Given the description of an element on the screen output the (x, y) to click on. 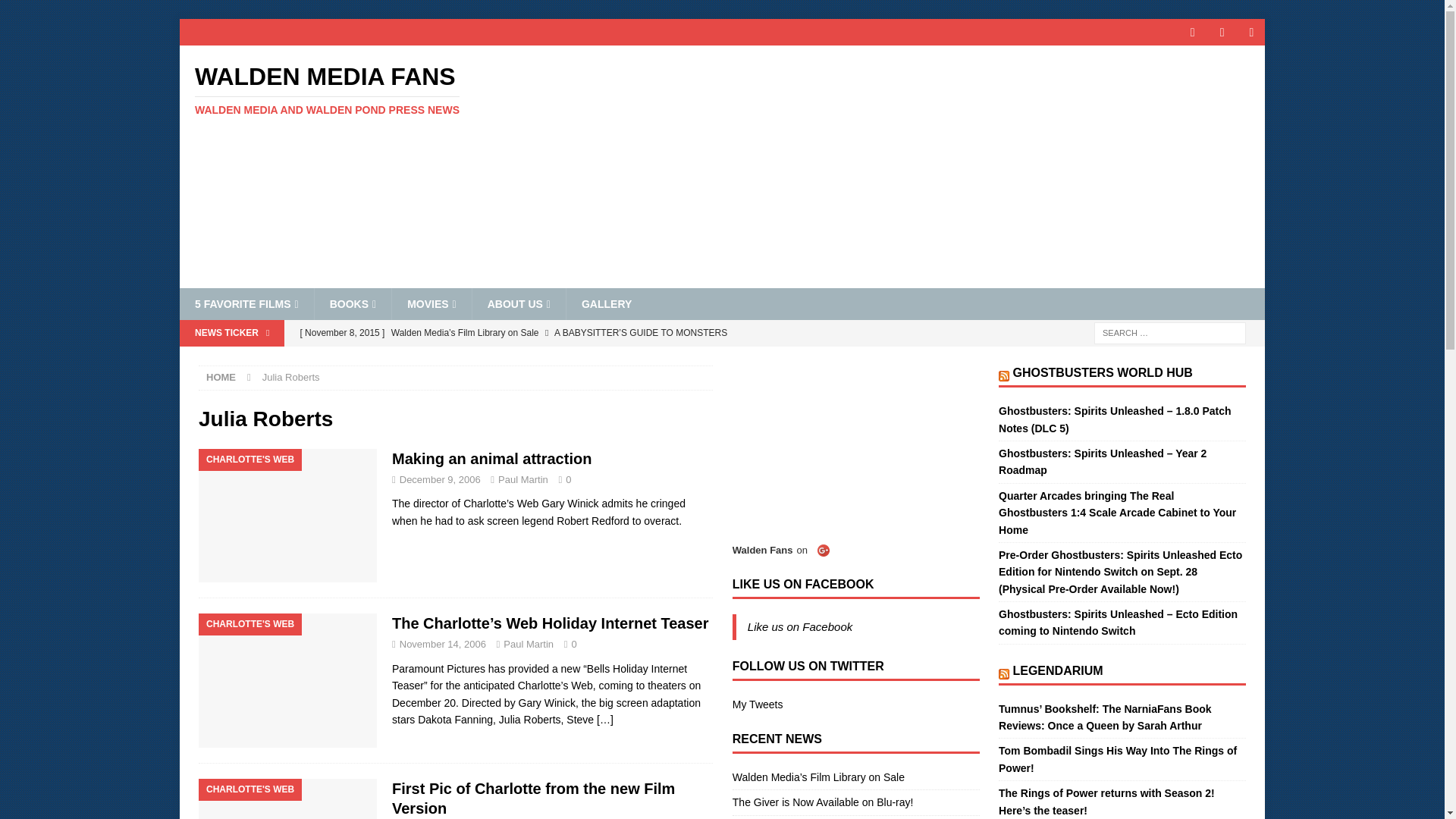
The Giver is Now Available on Blu-ray! (589, 358)
Walden Media Fans (351, 90)
ABOUT US (351, 90)
First Pic of Charlotte from the new Film Version (518, 304)
MOVIES (533, 798)
Making an animal attraction (431, 304)
BOOKS (491, 458)
Advertisement (352, 304)
